Given the description of an element on the screen output the (x, y) to click on. 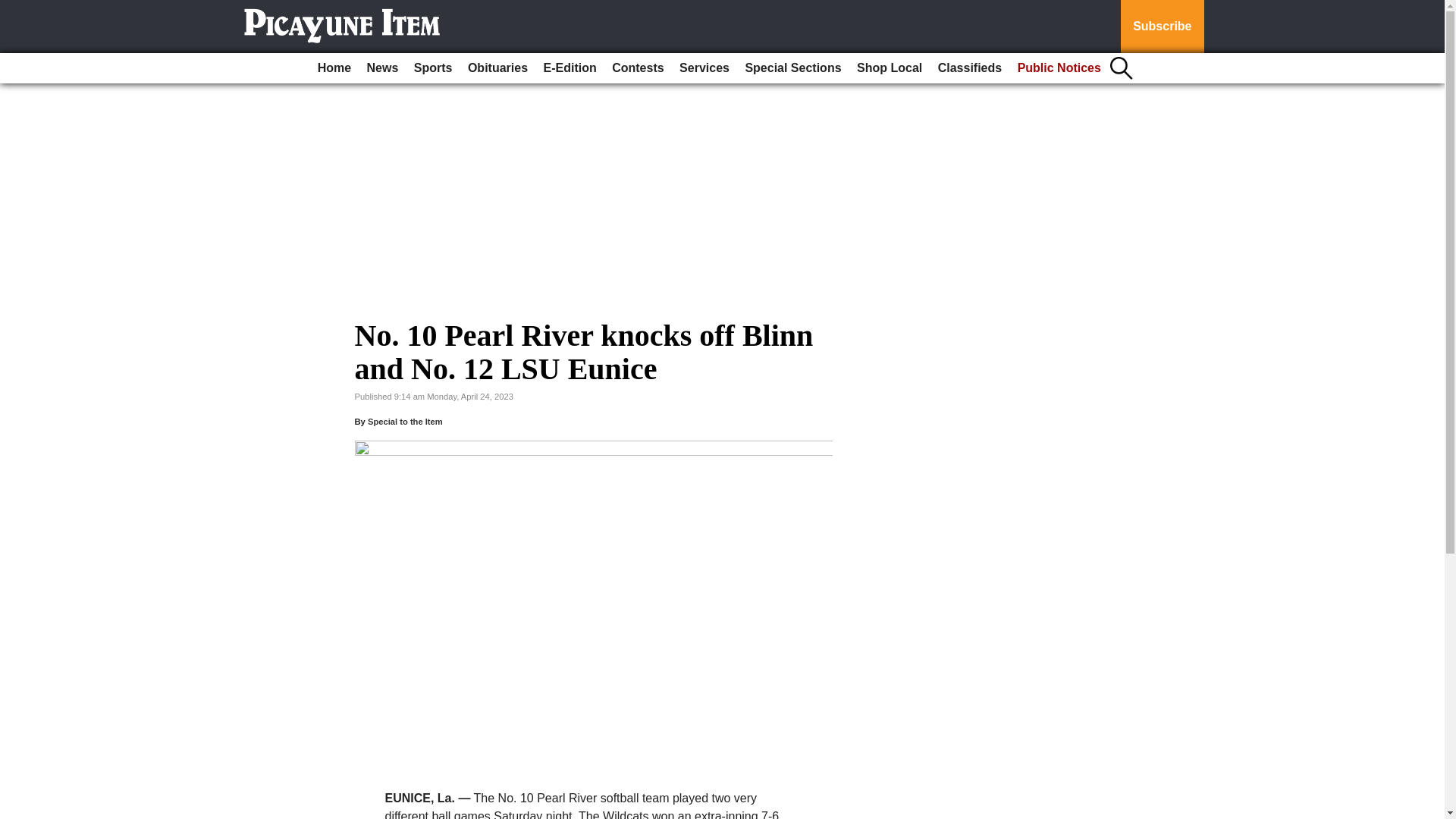
Special to the Item (405, 420)
Public Notices (1058, 68)
Home (333, 68)
Special Sections (792, 68)
Go (13, 9)
Contests (637, 68)
Sports (432, 68)
Subscribe (1162, 26)
Obituaries (497, 68)
News (382, 68)
